Given the description of an element on the screen output the (x, y) to click on. 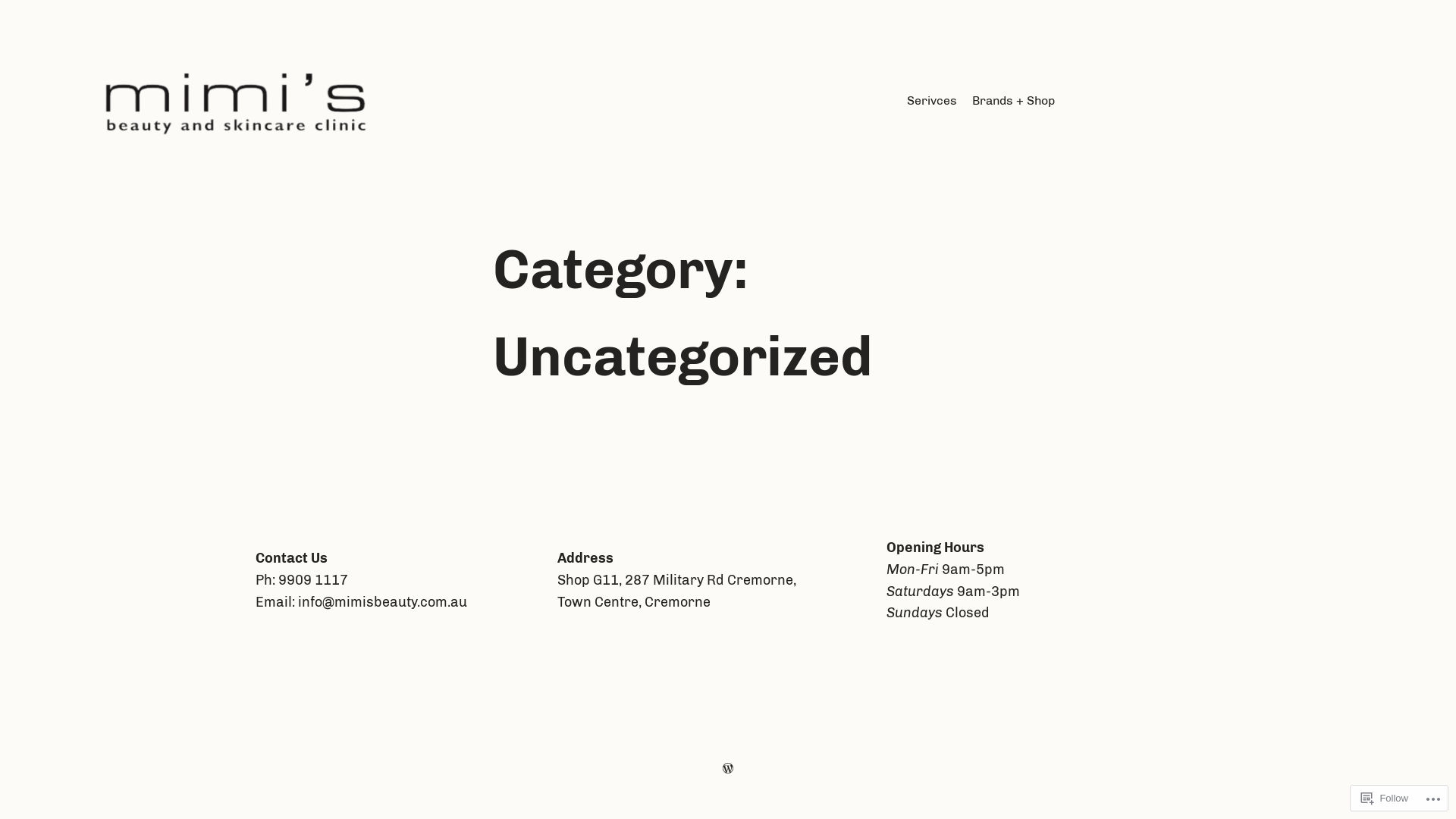
Serivces Element type: text (931, 100)
Brands + Shop Element type: text (1013, 100)
Follow Element type: text (1384, 797)
Create a website or blog at WordPress.com Element type: text (727, 767)
